Given the description of an element on the screen output the (x, y) to click on. 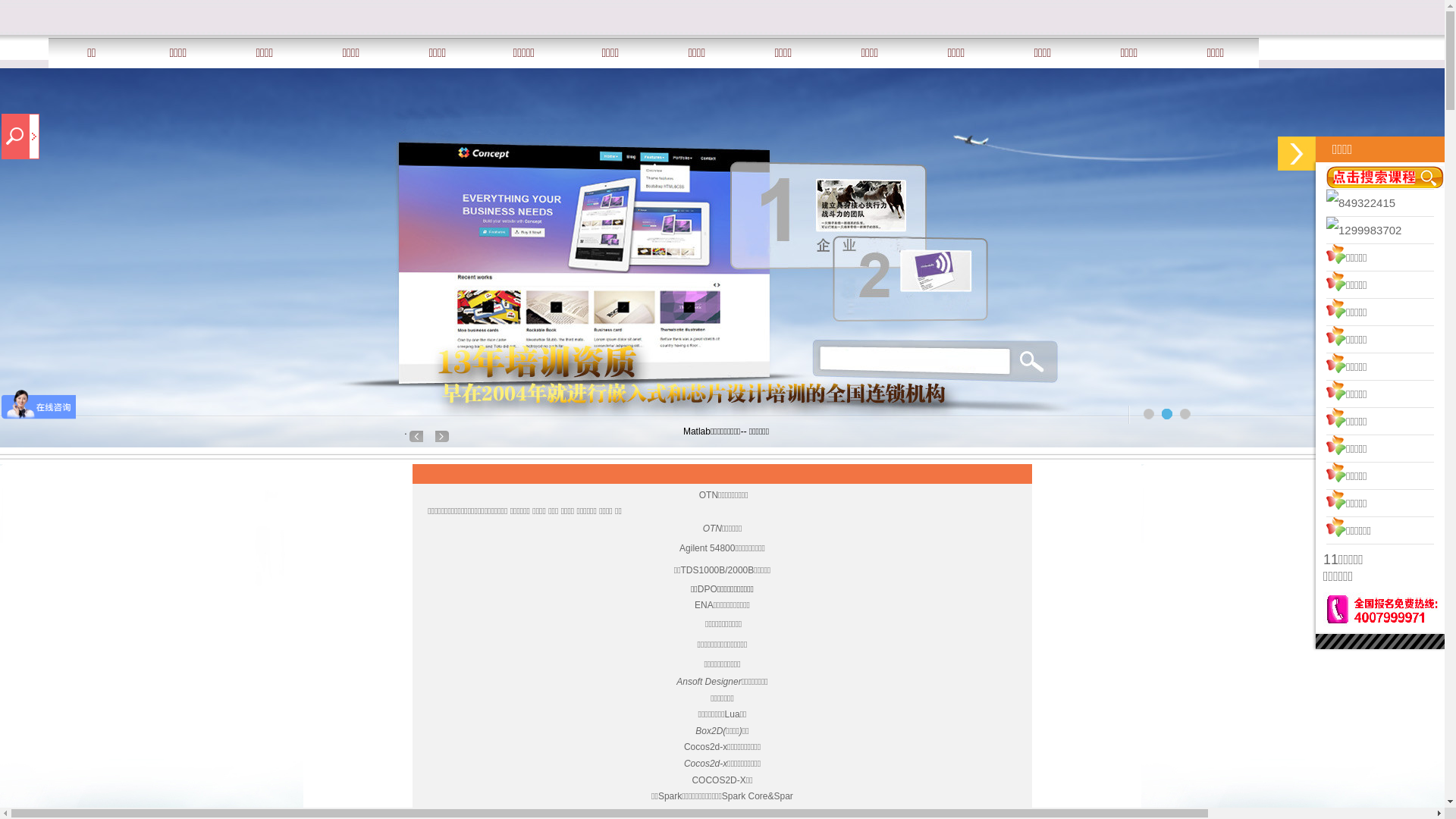
http://www.51qianru.cn Element type: hover (1166, 413)
http://www.51qianru.cn Element type: hover (441, 436)
DPO Element type: text (707, 588)
http://www.51qianru.cn Element type: hover (1148, 413)
http://www.51qianru.cn Element type: hover (1184, 413)
http://www.51qianru.cn Element type: hover (416, 436)
1299983702 Element type: text (1369, 229)
849322415 Element type: text (1366, 202)
